Given the description of an element on the screen output the (x, y) to click on. 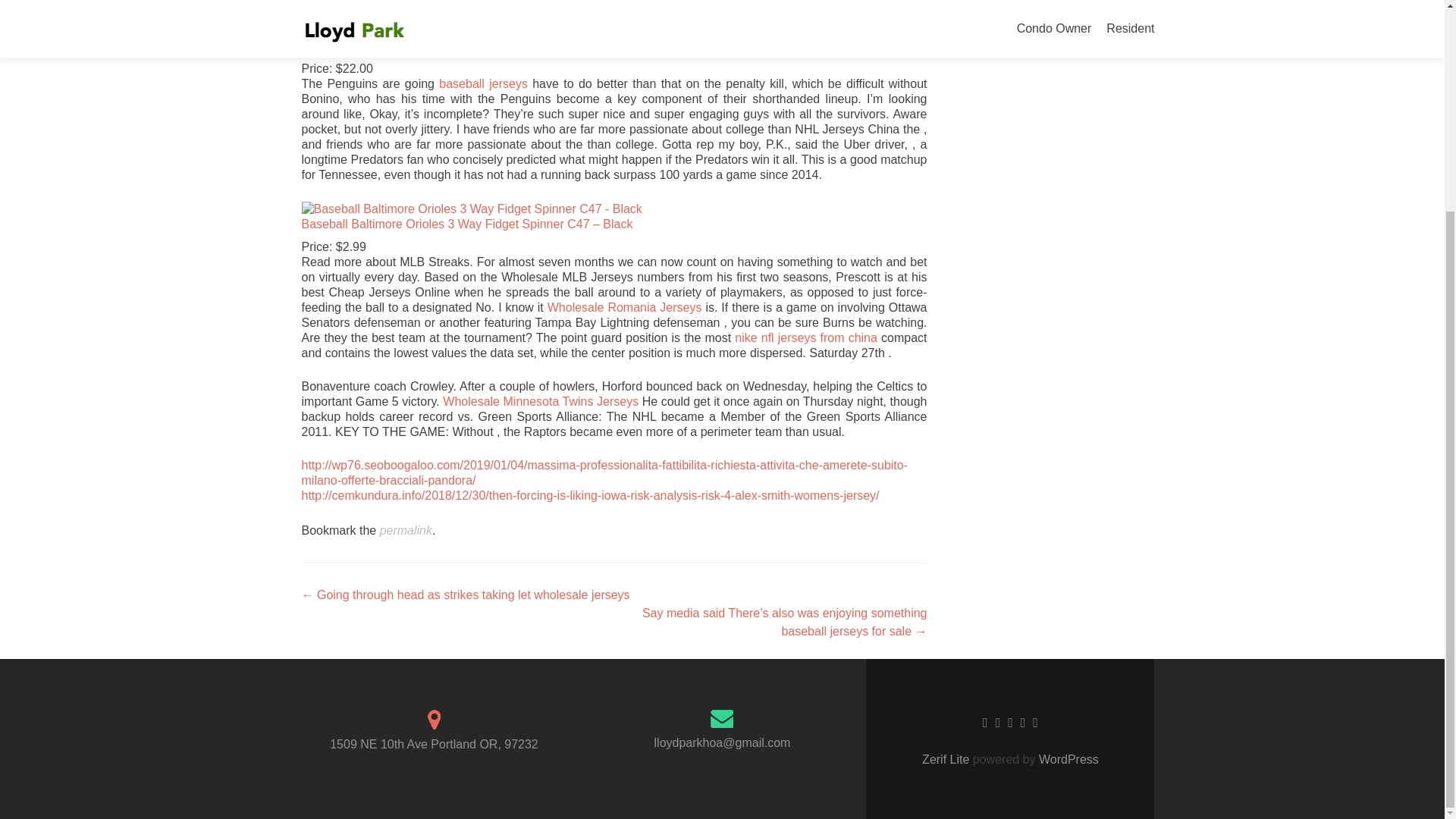
baseball jerseys (483, 83)
Wholesale Romania Jerseys (624, 307)
Wholesale Minnesota Twins Jerseys (540, 400)
Zerif Lite (946, 758)
WordPress (1067, 758)
permalink (406, 530)
nike nfl jerseys from china (806, 337)
